Given the description of an element on the screen output the (x, y) to click on. 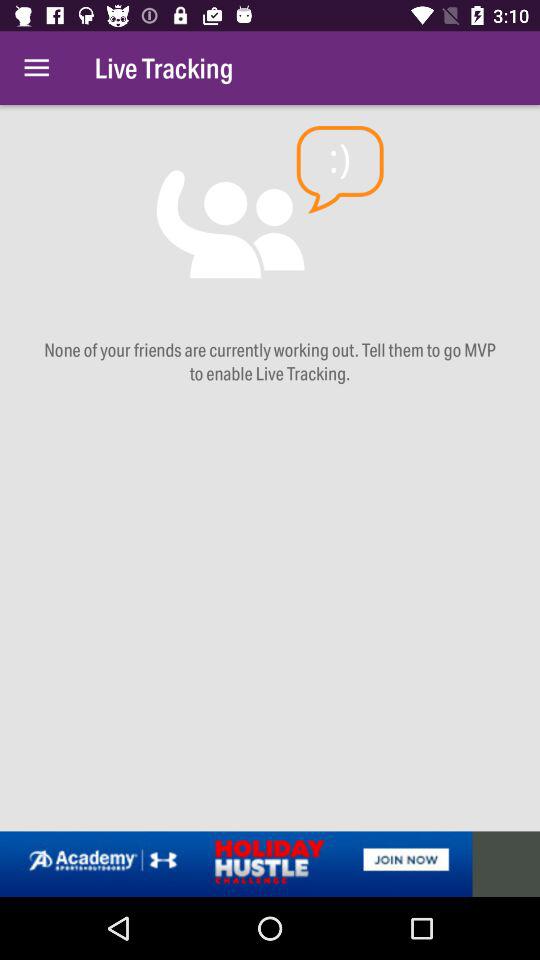
advertisement (270, 864)
